Given the description of an element on the screen output the (x, y) to click on. 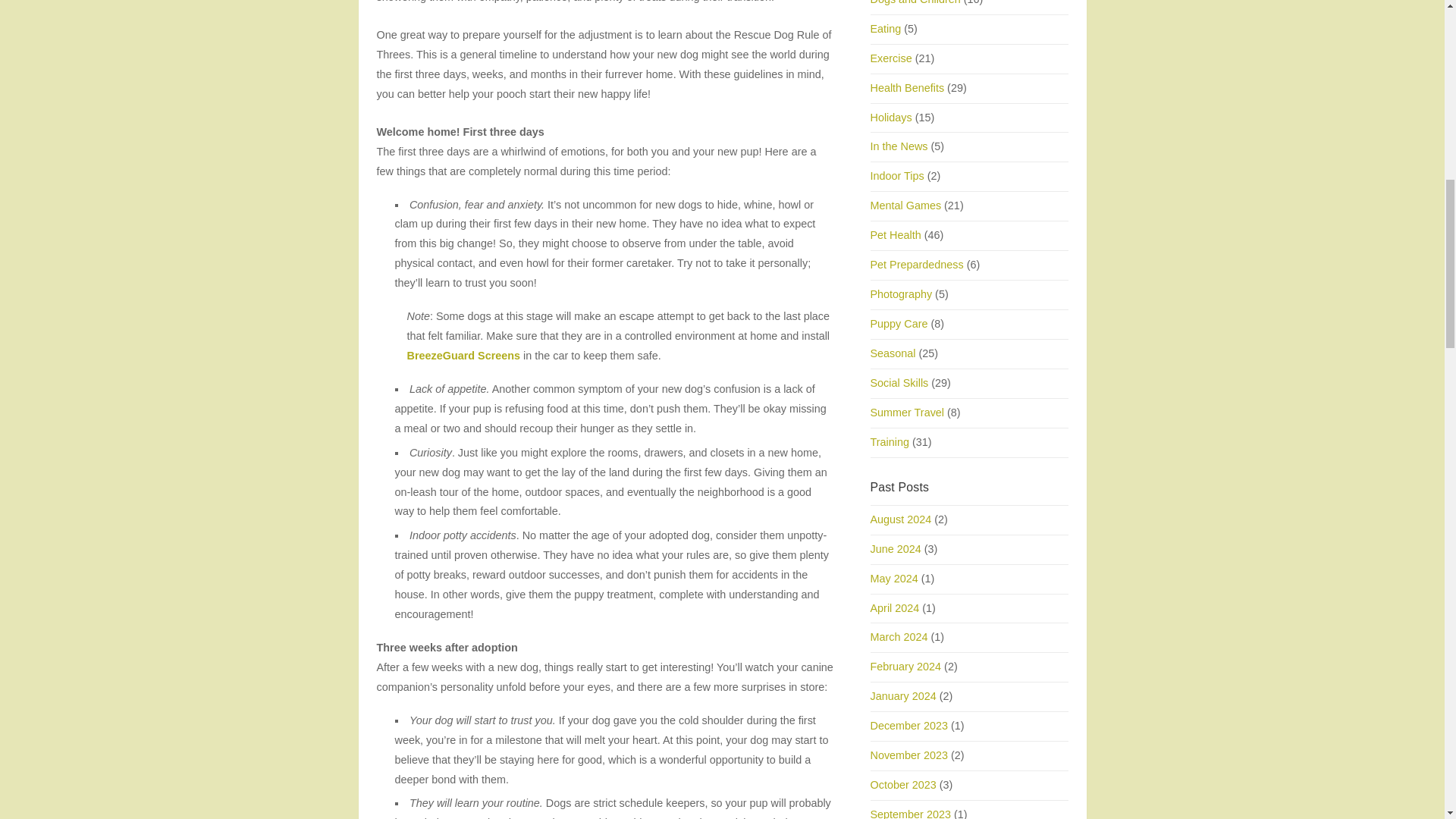
Eating (885, 28)
In the News (899, 146)
Pet Prepardedness (916, 264)
Mental Games (906, 205)
Exercise (891, 58)
Holidays (891, 117)
BreezeGuard Screens (462, 355)
Health Benefits (907, 87)
Indoor Tips (897, 175)
Dogs and Children (915, 2)
